Given the description of an element on the screen output the (x, y) to click on. 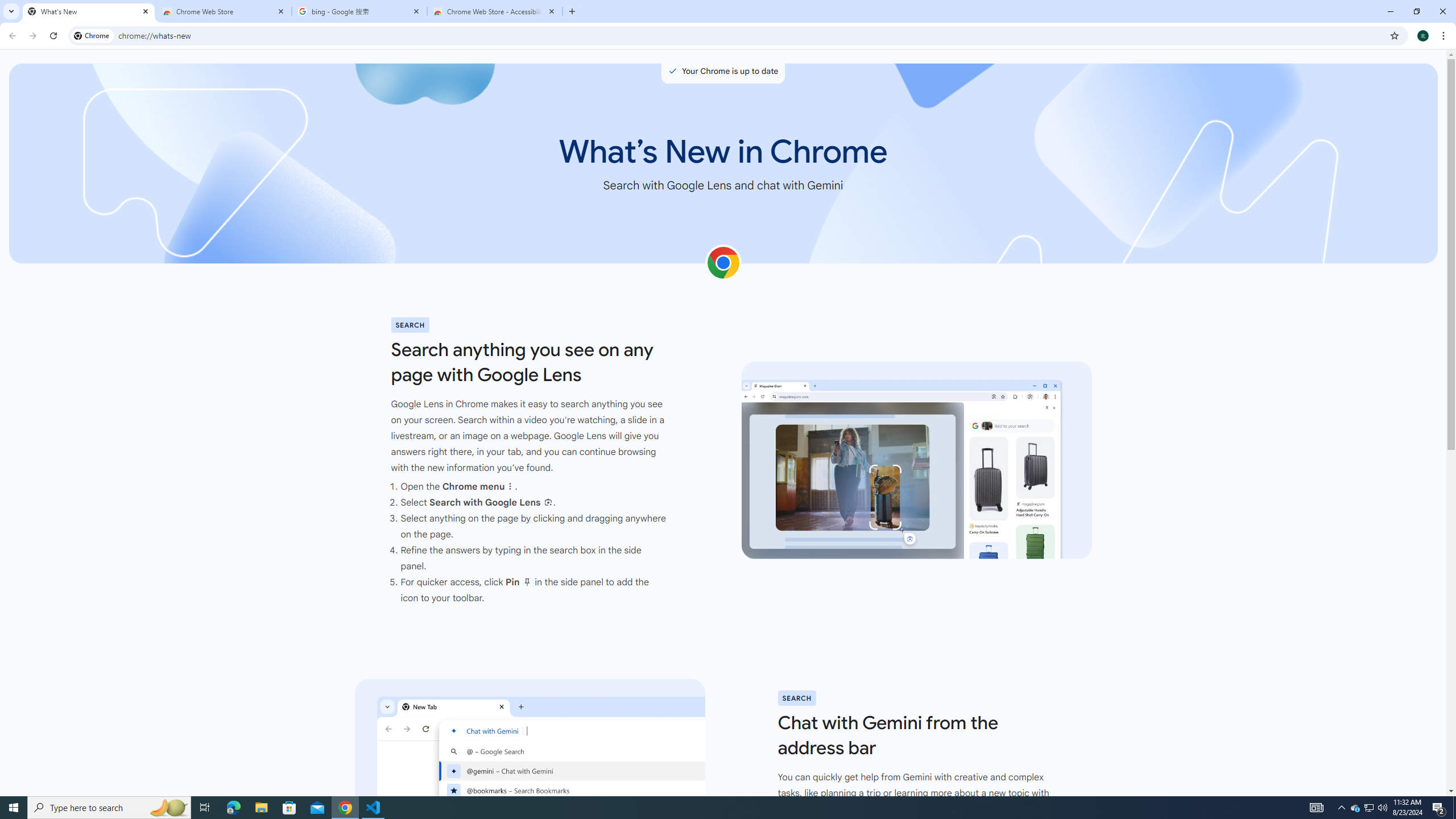
Chrome Web Store (224, 11)
What's New (88, 11)
